Given the description of an element on the screen output the (x, y) to click on. 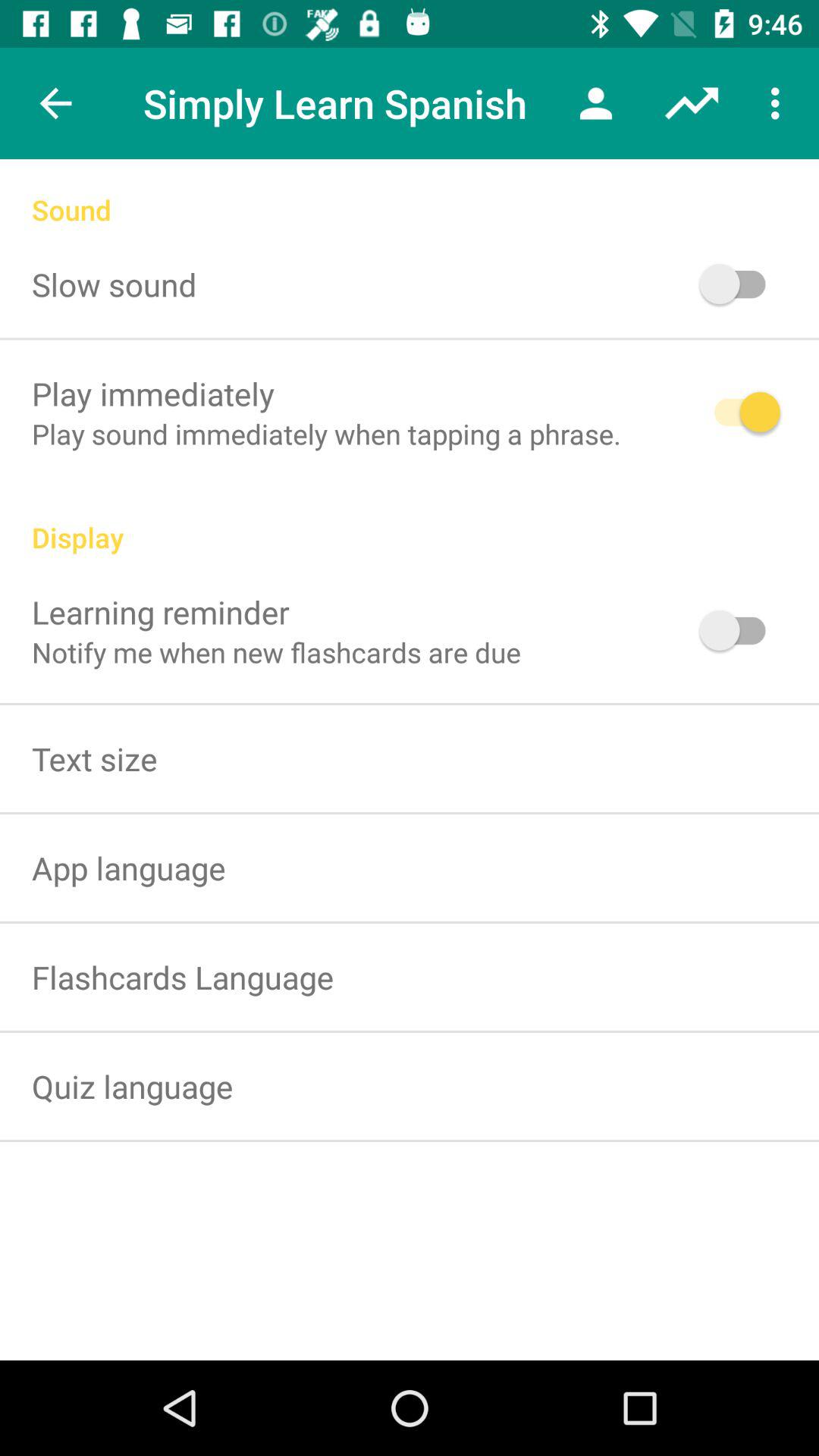
flip until the app language item (128, 867)
